Given the description of an element on the screen output the (x, y) to click on. 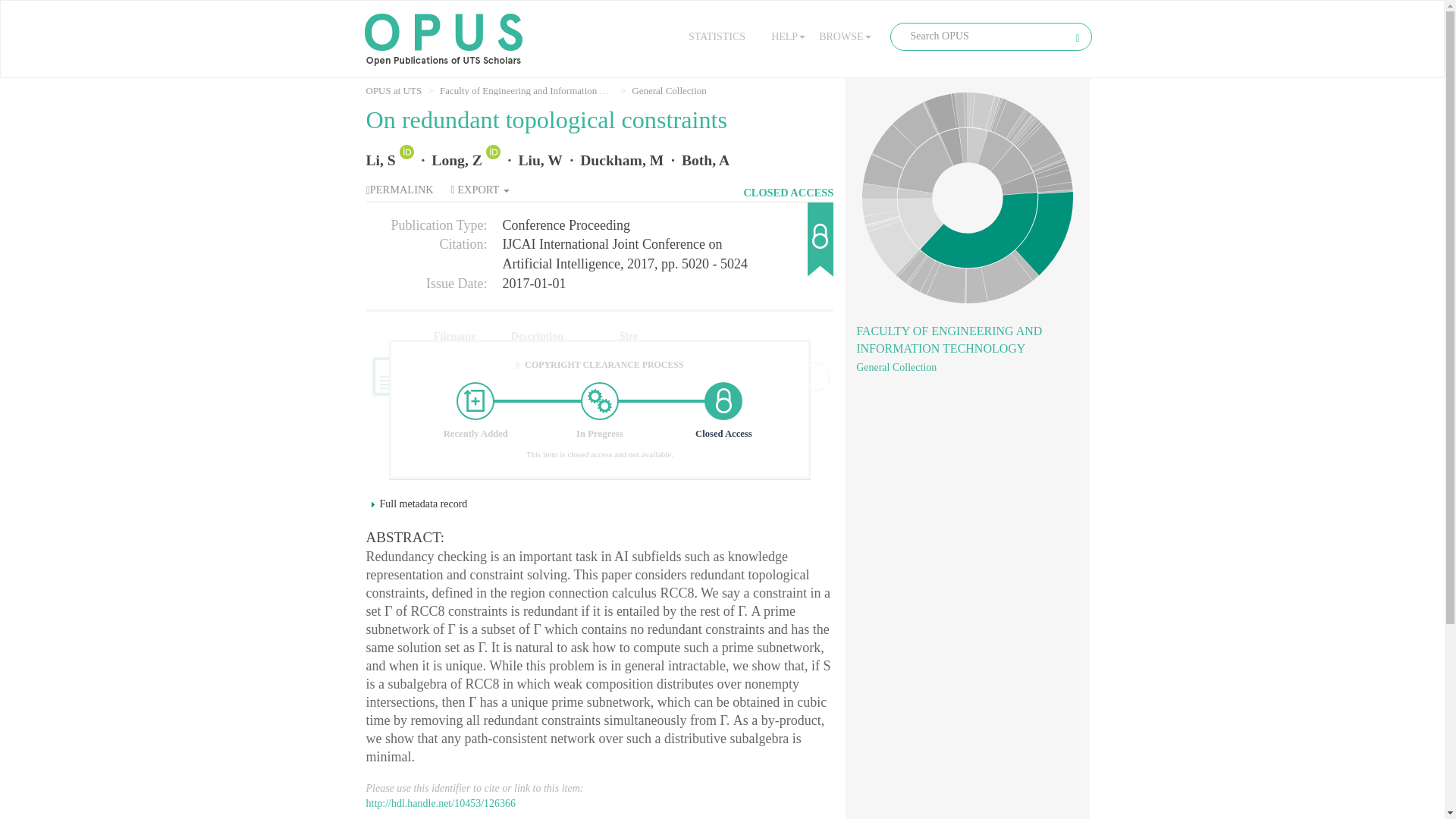
Liu, W (540, 160)
Liu, W (540, 160)
Please use this identifier to cite or link to this item (440, 803)
Long, Z (455, 160)
Faculty of Engineering and Information Technology (542, 90)
Duckham, M (621, 160)
Long, Z's ORCID profile (494, 160)
Both, A (705, 160)
Li, S (379, 160)
OPUS at UTS (393, 90)
